Given the description of an element on the screen output the (x, y) to click on. 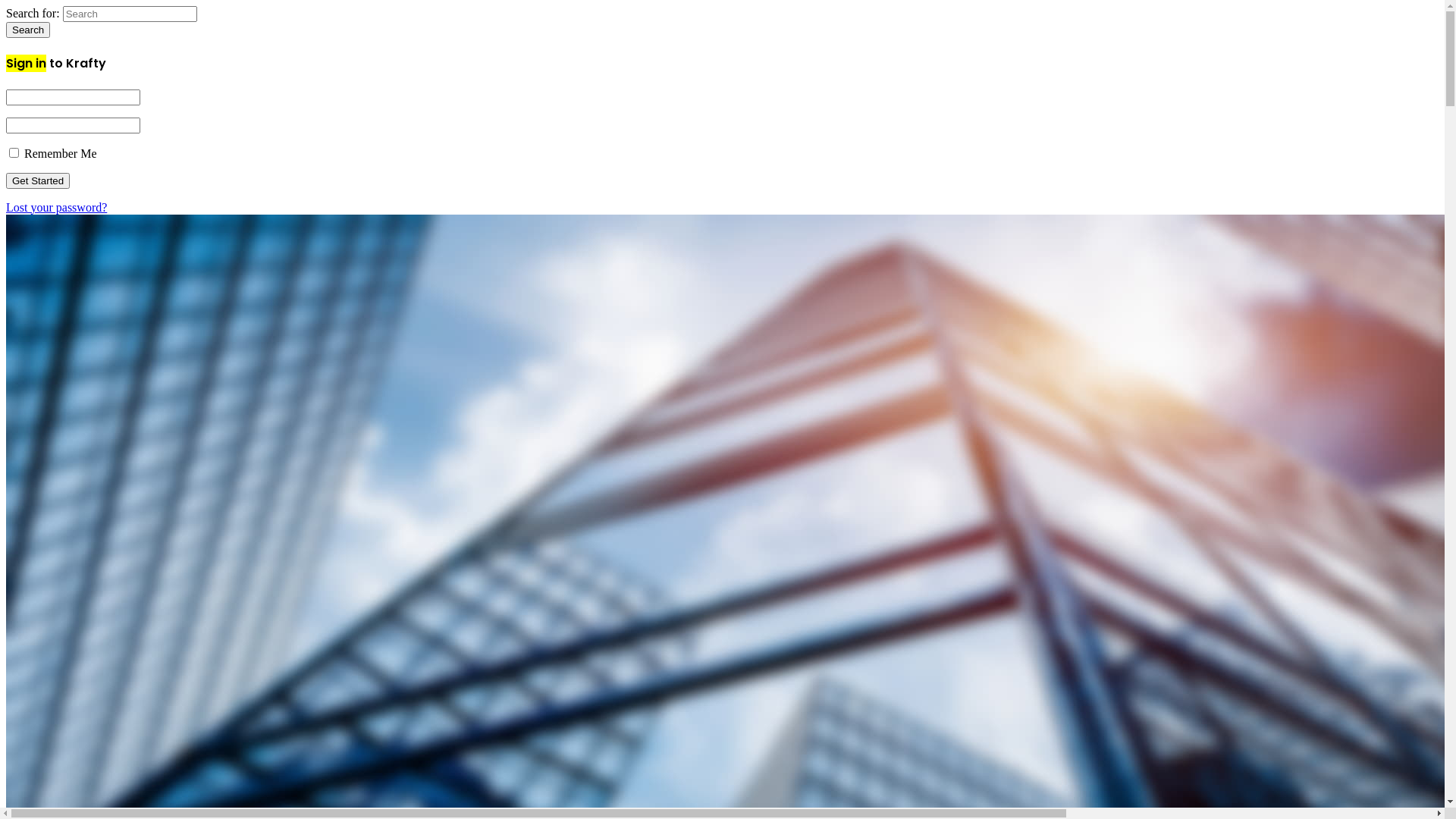
Get Started Element type: text (37, 180)
Search for: Element type: hover (129, 13)
Search Element type: text (28, 29)
Lost your password? Element type: text (56, 206)
